Given the description of an element on the screen output the (x, y) to click on. 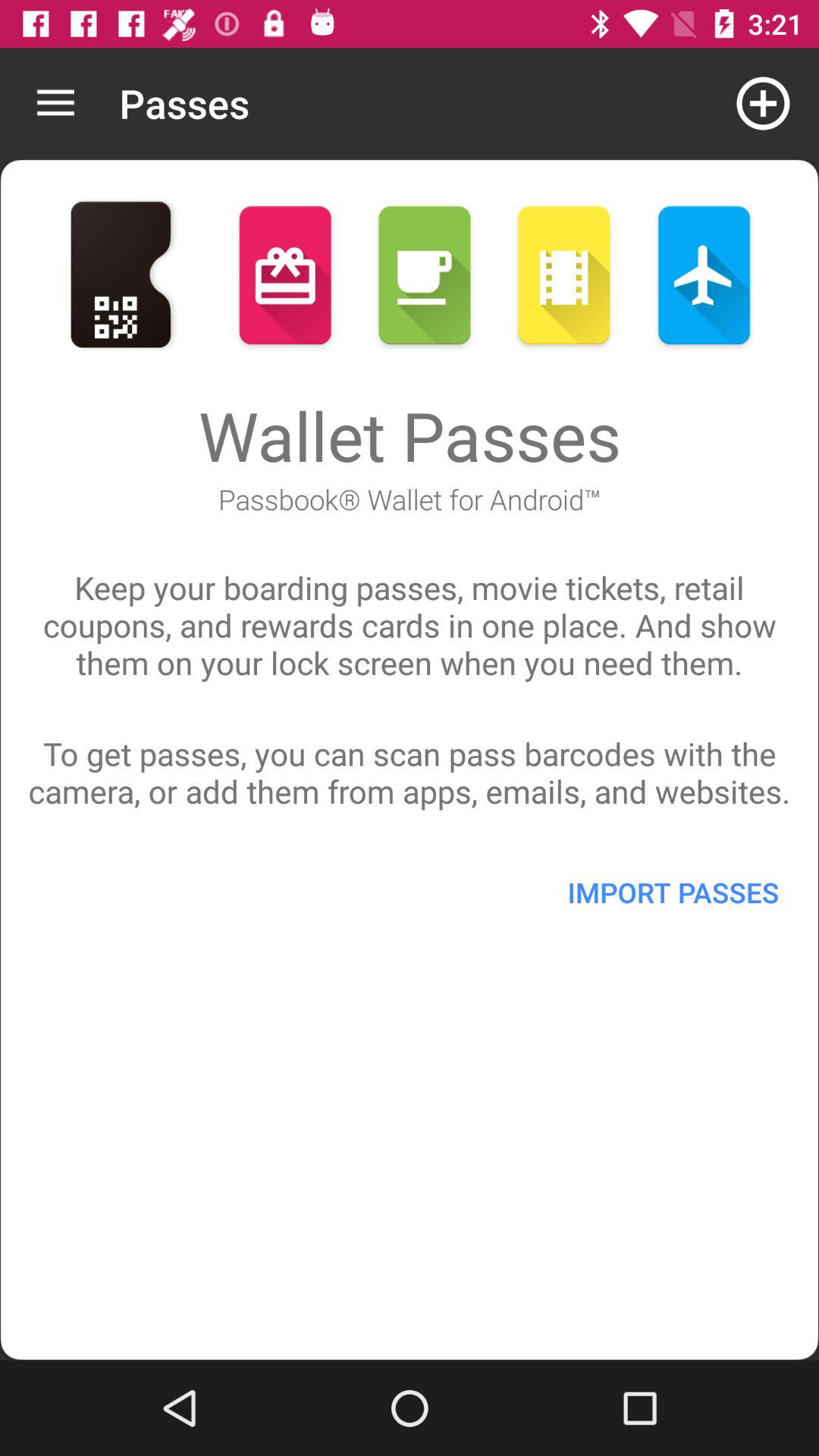
press import passes (673, 892)
